Given the description of an element on the screen output the (x, y) to click on. 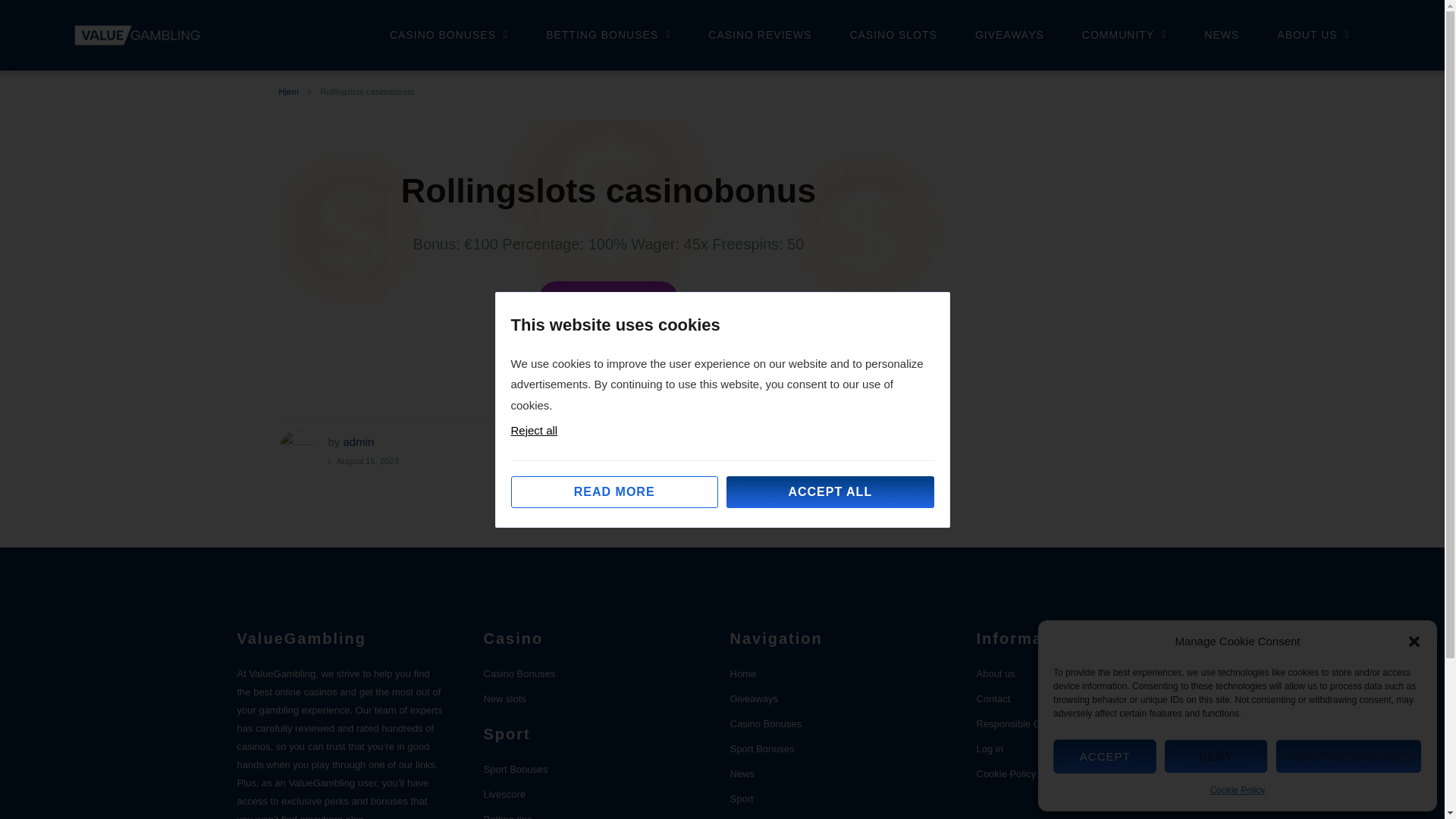
BETTING BONUSES (608, 34)
CLAIM NOW (608, 298)
VIEW PREFERENCES (1348, 756)
Cookie Policy (1237, 790)
DENY (1214, 756)
CASINO BONUSES (448, 34)
ACCEPT (1104, 756)
Posts by admin (358, 440)
